Given the description of an element on the screen output the (x, y) to click on. 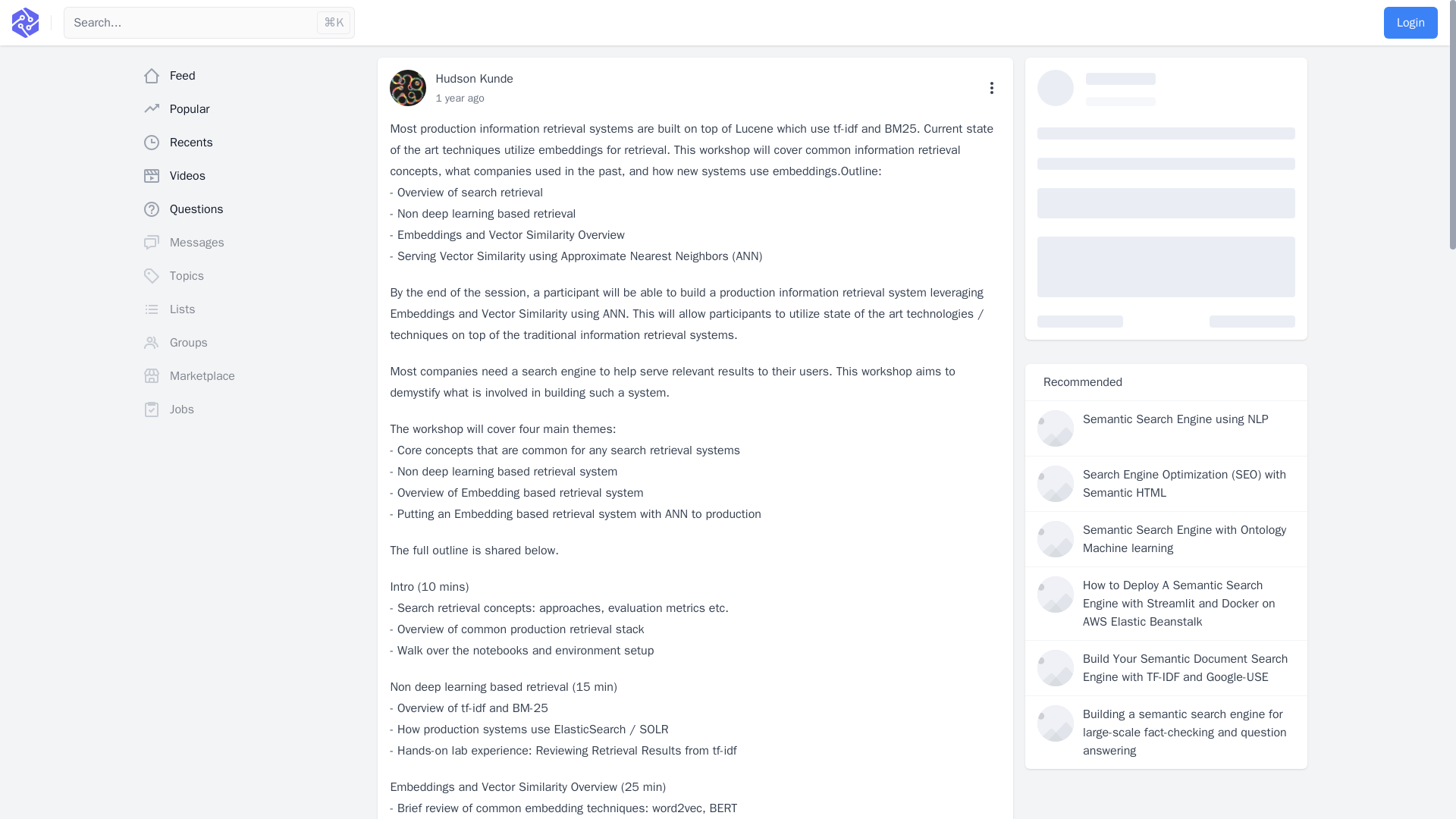
Feed (253, 75)
Login (1411, 22)
Recents (253, 142)
Popular (253, 109)
Open options (991, 87)
Questions (253, 209)
1 year ago (459, 97)
Semantic Search Engine with Ontology Machine learning (1189, 538)
